Given the description of an element on the screen output the (x, y) to click on. 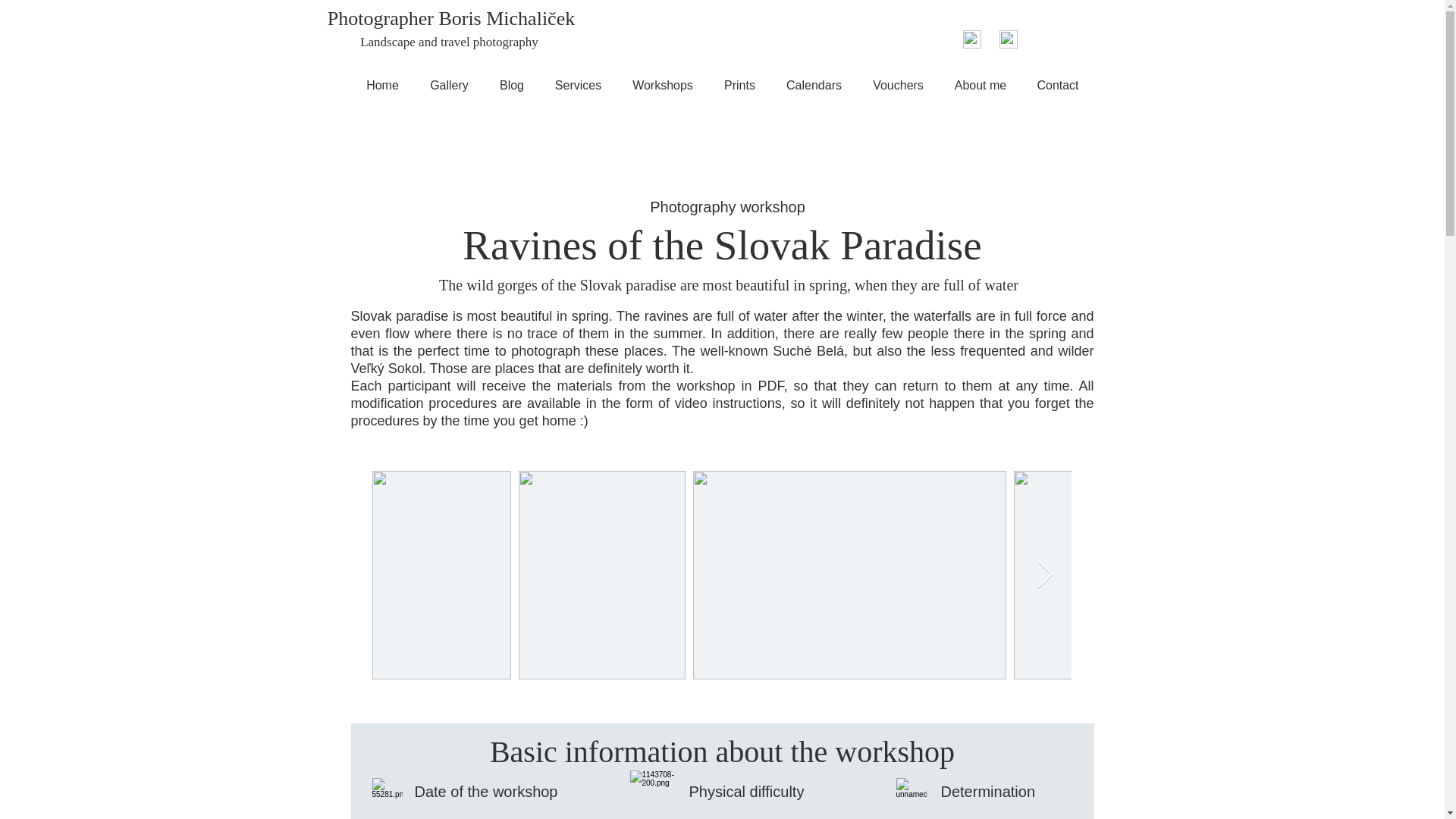
About me (980, 85)
Contact (1058, 85)
Landscape and travel photography (448, 41)
Blog (510, 85)
Calendars (813, 85)
Prints (738, 85)
Home (381, 85)
Services (578, 85)
Gallery (448, 85)
Vouchers (898, 85)
